Given the description of an element on the screen output the (x, y) to click on. 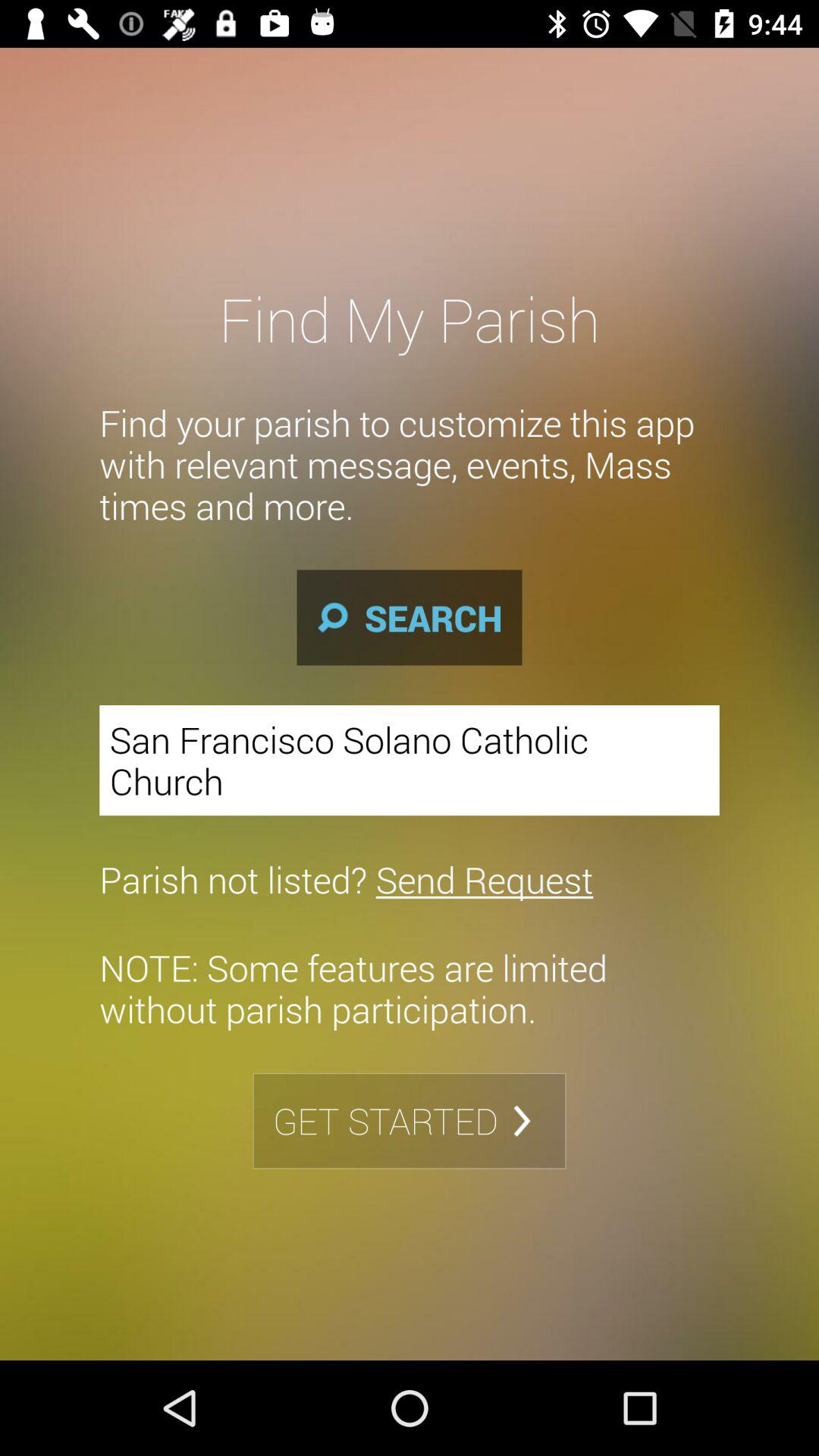
tap the search (409, 617)
